Given the description of an element on the screen output the (x, y) to click on. 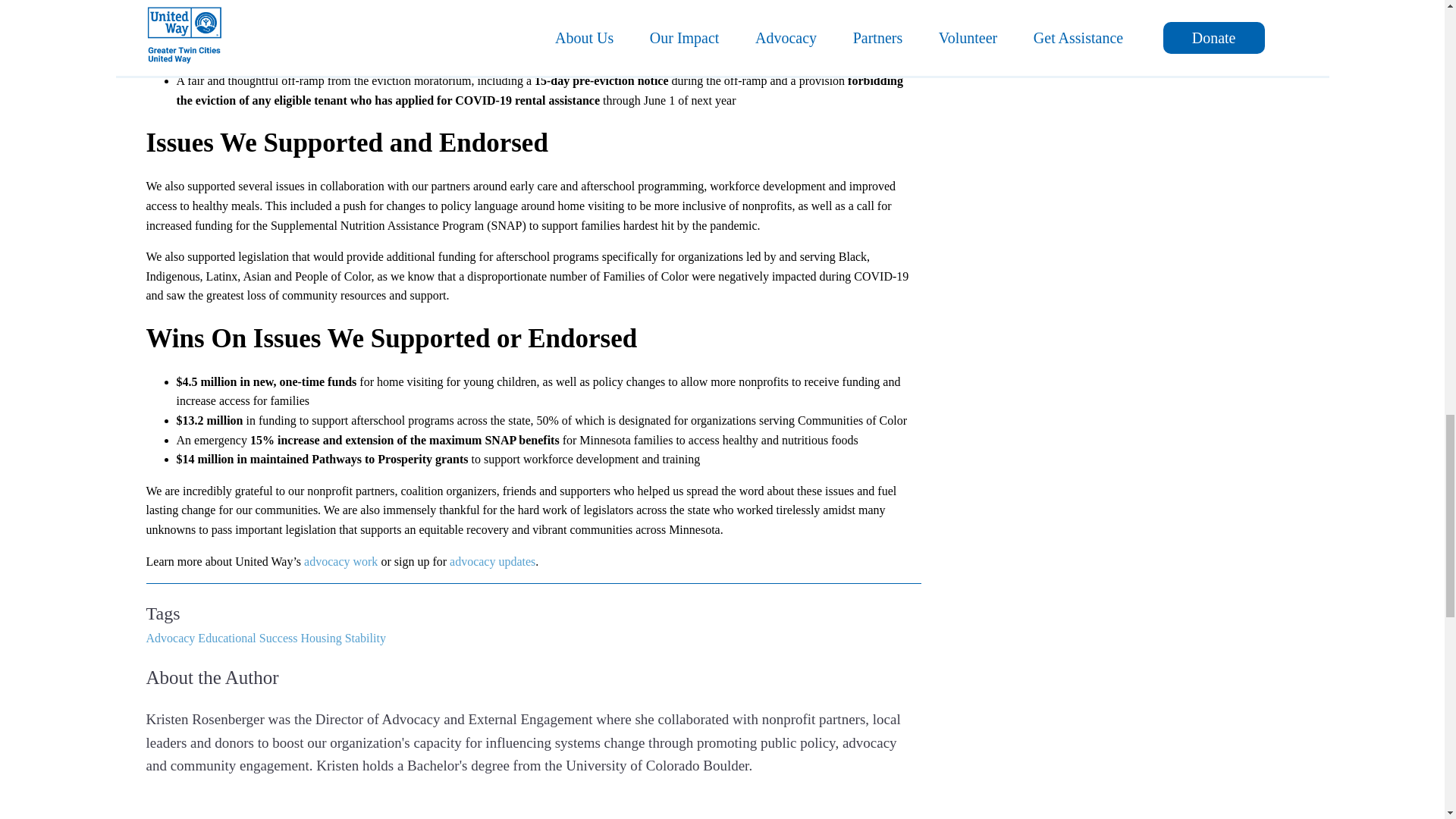
Advocacy (170, 637)
Housing Stability (342, 637)
Educational Success (247, 637)
Advocacy (170, 637)
Housing Stability (342, 637)
advocacy updates (492, 561)
Educational Success (247, 637)
advocacy work (340, 561)
